Given the description of an element on the screen output the (x, y) to click on. 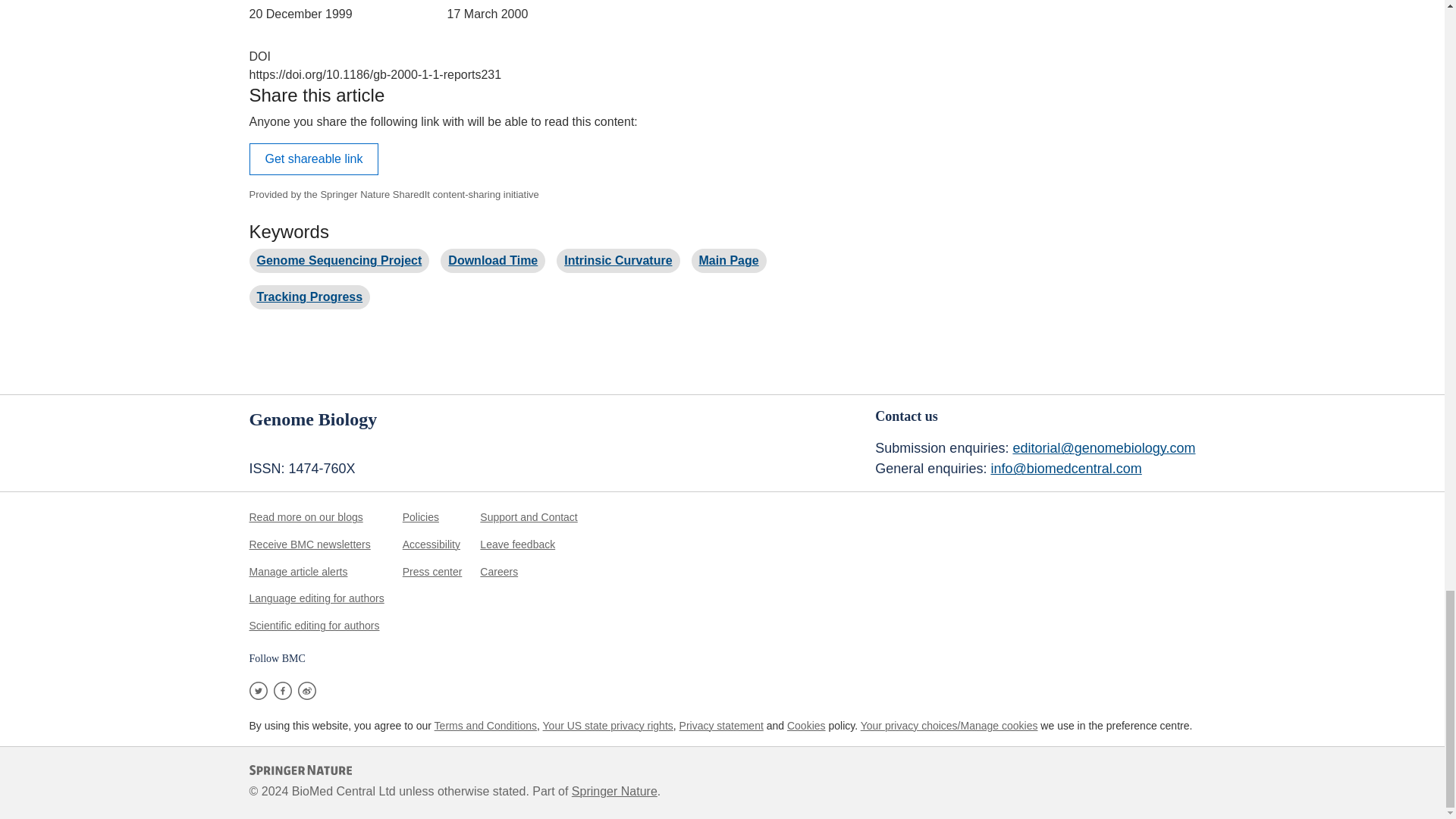
Genome Sequencing Project (339, 259)
Digital Object Identifier (258, 56)
Get shareable link (313, 159)
